Given the description of an element on the screen output the (x, y) to click on. 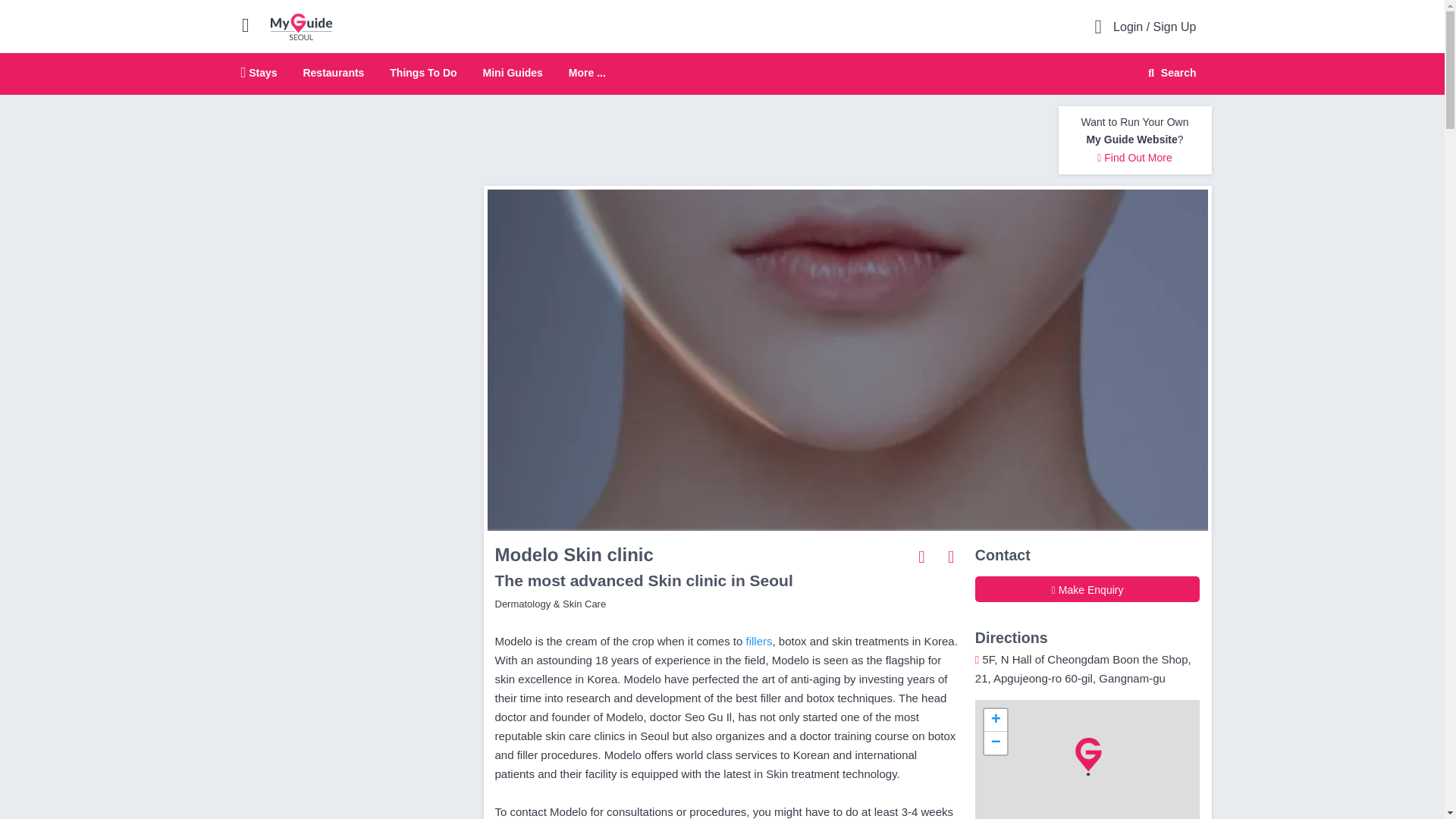
Mini Guides (513, 72)
More ... (587, 72)
Zoom in (995, 720)
fillers (721, 74)
Zoom out (759, 640)
Restaurants (995, 743)
Find Out More (333, 72)
Things To Do (1134, 157)
Search Website (423, 72)
Stays (1170, 73)
Search (259, 72)
My Guide Seoul (1169, 72)
Modelo Skin clinic (300, 25)
